Given the description of an element on the screen output the (x, y) to click on. 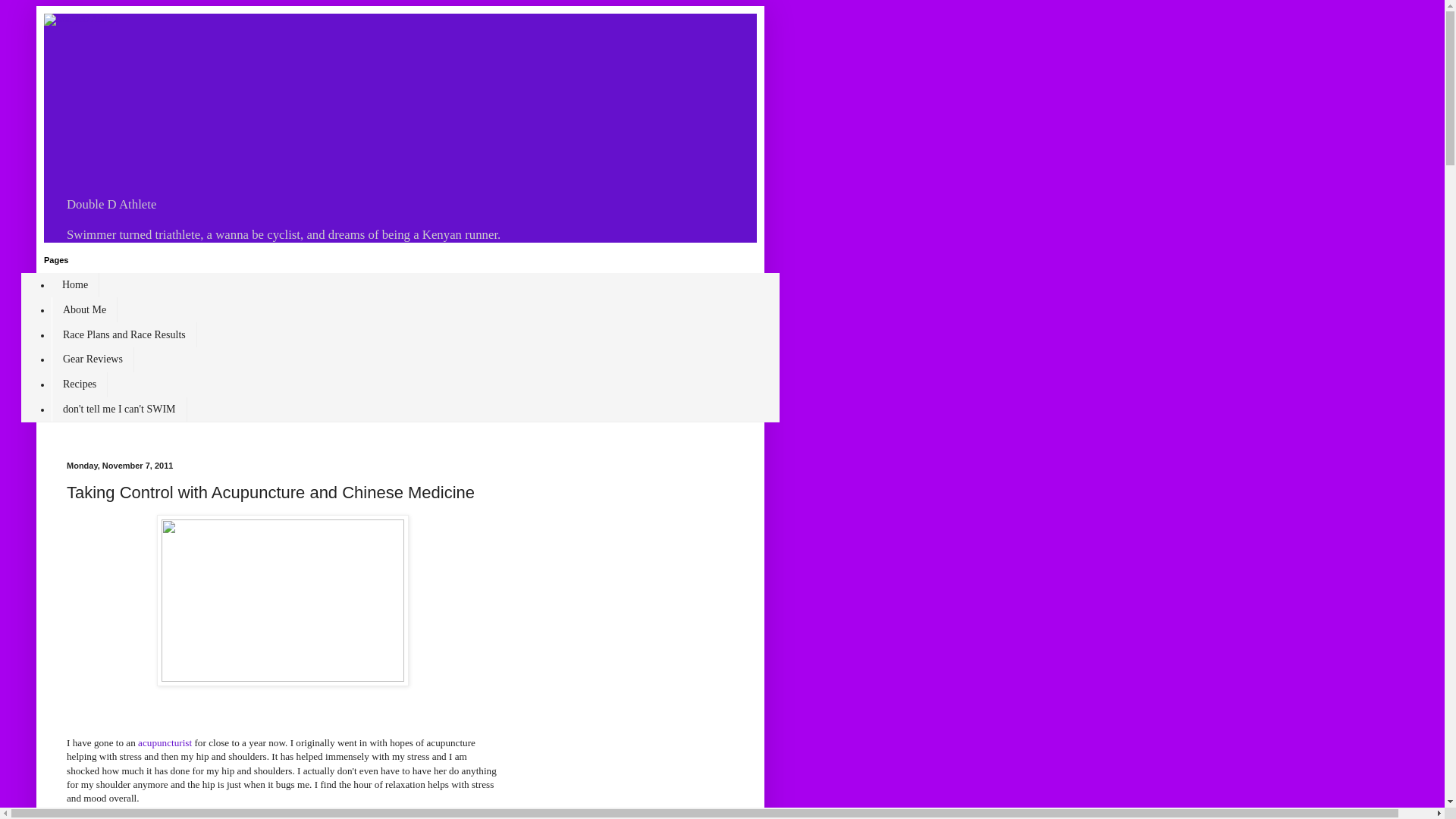
About Me (83, 309)
Recipes (78, 384)
acupuncturist (165, 742)
Race Plans and Race Results (123, 334)
Gear Reviews (91, 359)
don't tell me I can't SWIM (118, 409)
Home (74, 285)
